Given the description of an element on the screen output the (x, y) to click on. 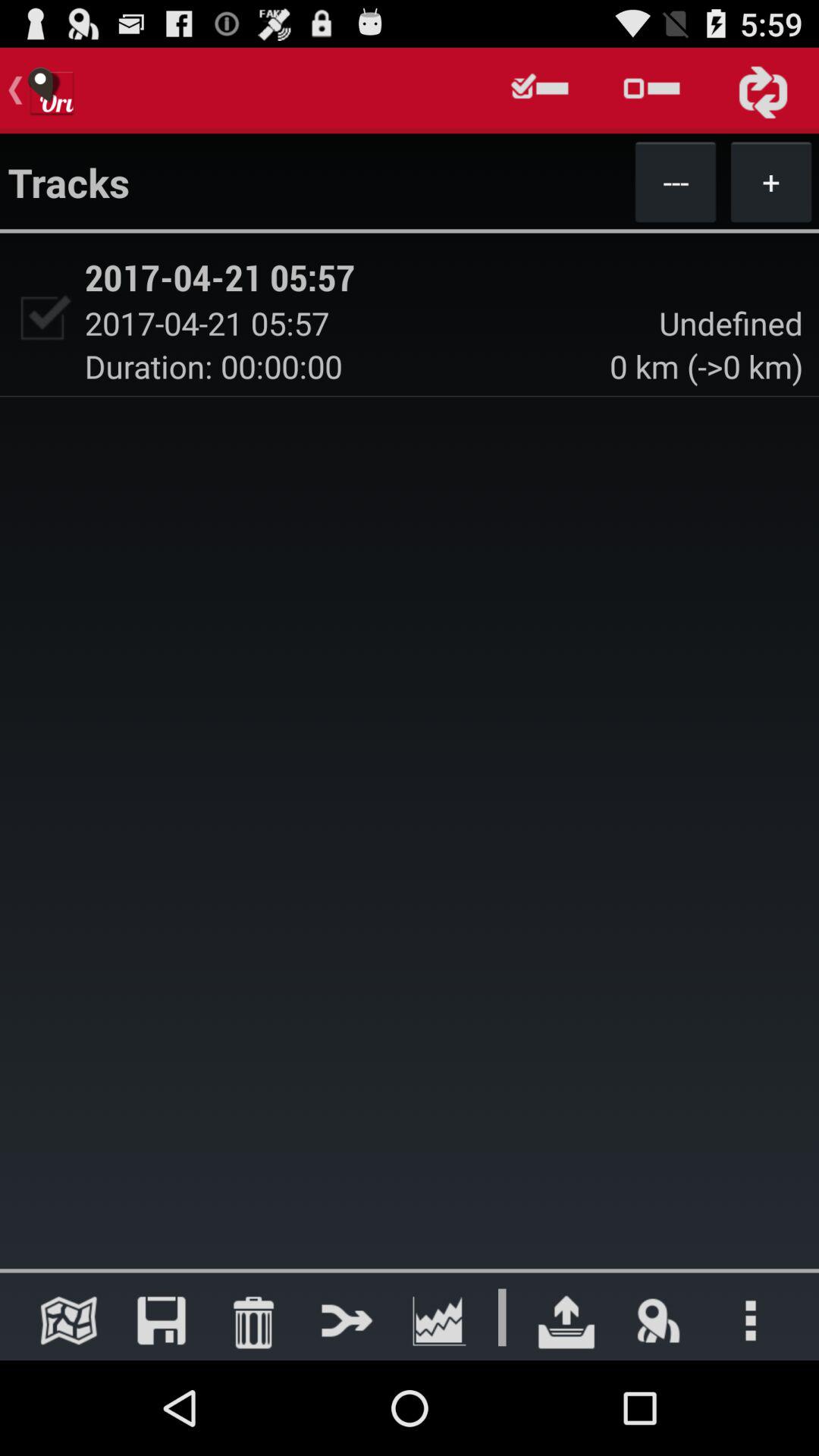
launch the app to the left of the 2017 04 21 icon (42, 317)
